Given the description of an element on the screen output the (x, y) to click on. 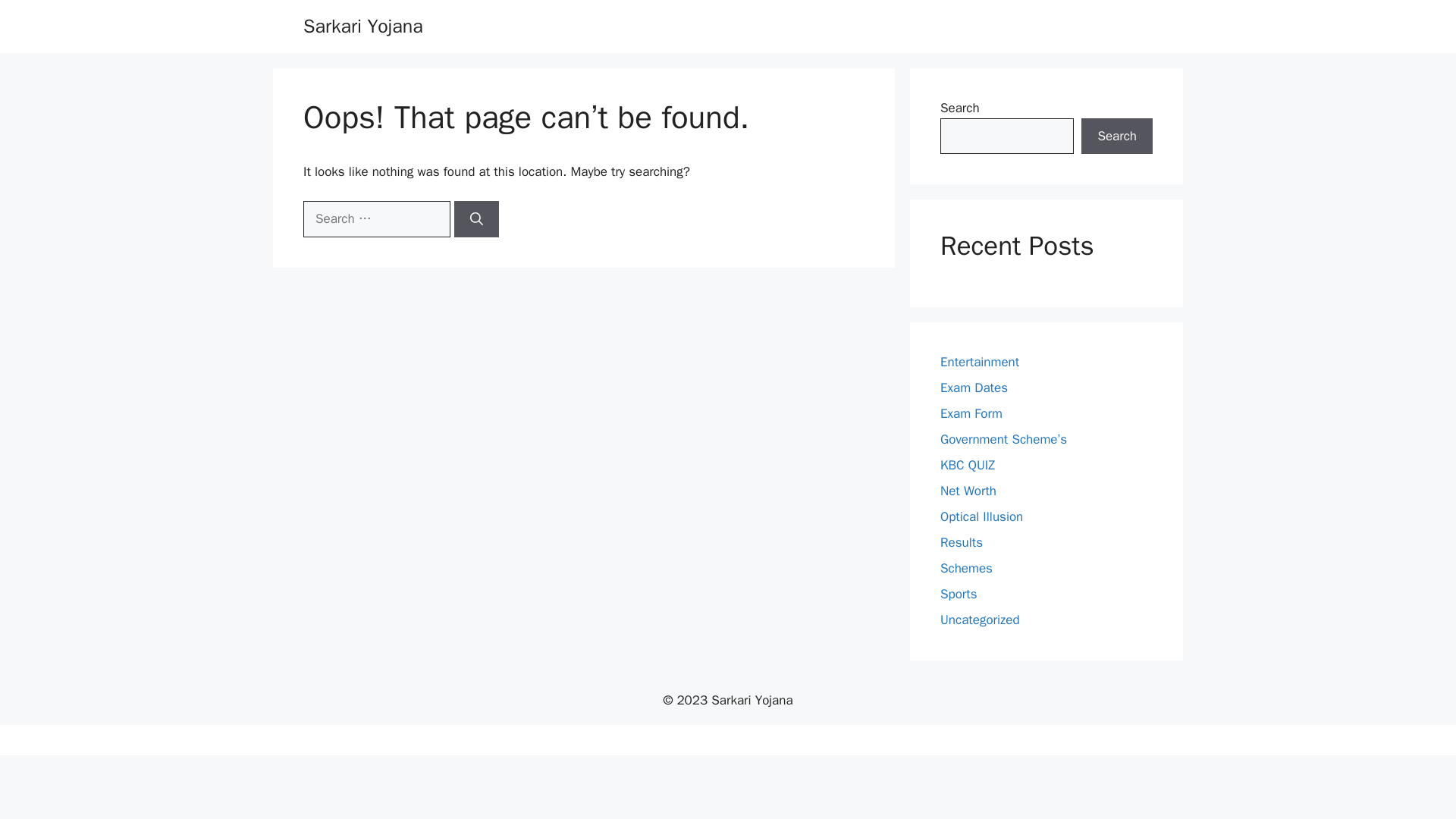
Entertainment (979, 361)
KBC QUIZ (967, 465)
Uncategorized (980, 619)
Sports (958, 593)
Exam Dates (973, 387)
Search (1117, 135)
Schemes (966, 568)
Results (961, 542)
Sarkari Yojana (362, 25)
Optical Illusion (981, 516)
